Given the description of an element on the screen output the (x, y) to click on. 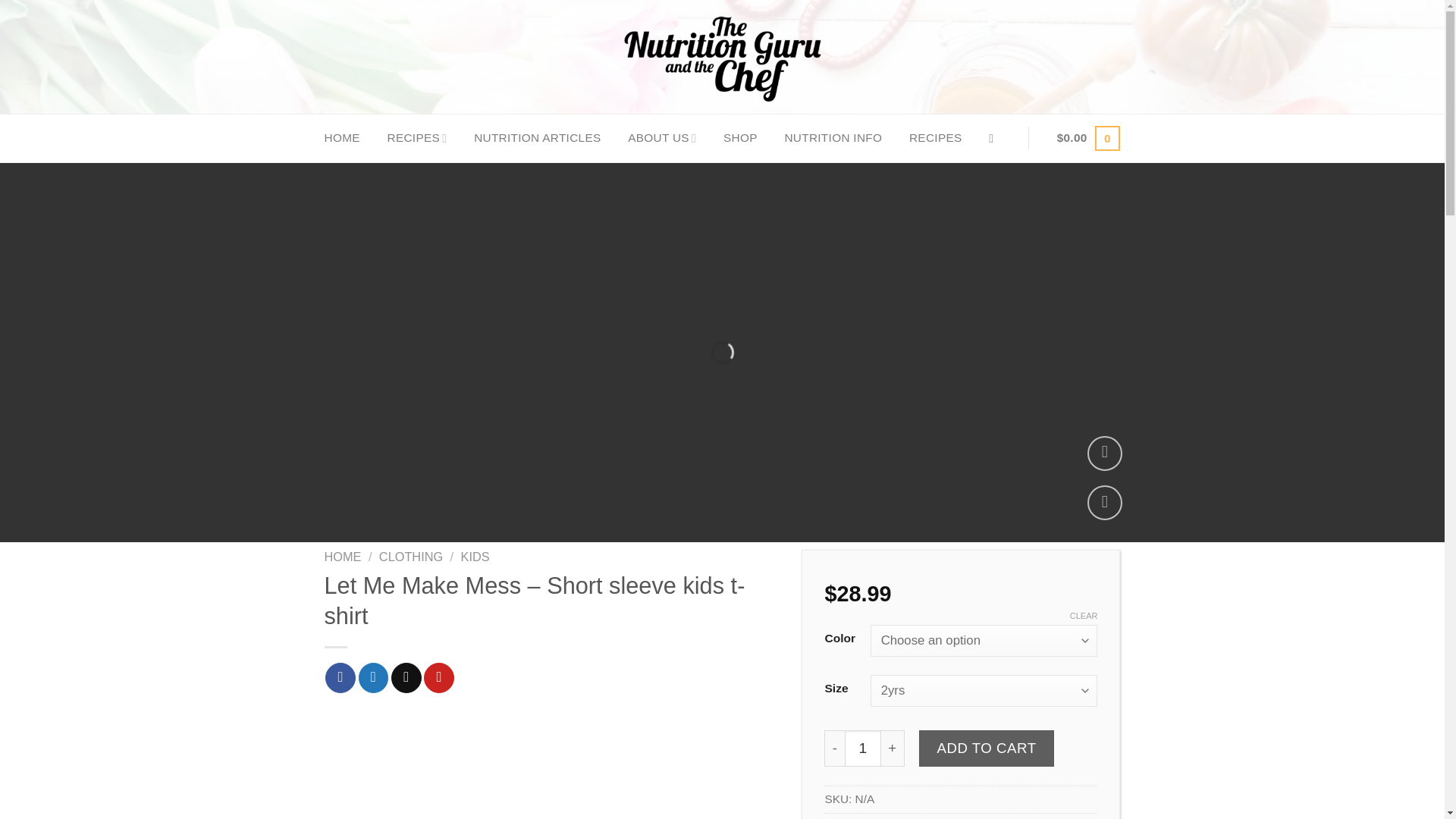
HOME (342, 556)
Cart (1089, 138)
KIDS (475, 556)
Zoom (1104, 453)
RECIPES (416, 137)
Pin on Pinterest (438, 677)
1 (862, 748)
RECIPES (935, 137)
ABOUT US (661, 137)
Share on Twitter (373, 677)
The Nutrition Guru and the Chef (722, 57)
Email to a Friend (406, 677)
CLOTHING (410, 556)
NUTRITION ARTICLES (536, 137)
Share on Facebook (339, 677)
